Given the description of an element on the screen output the (x, y) to click on. 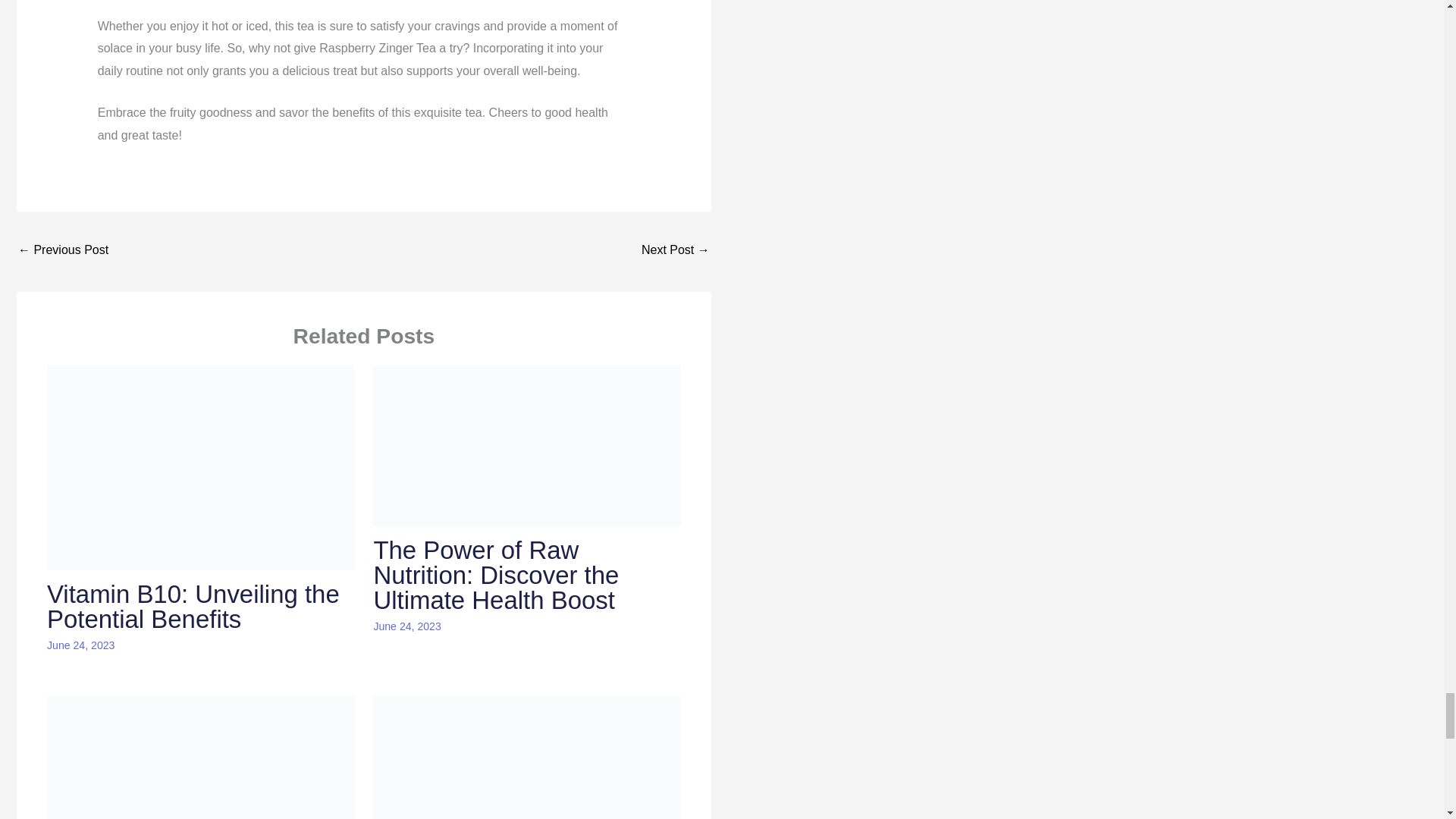
Frizzled Onions: The Secret to Perfectly Crispy Alliums (62, 251)
